Given the description of an element on the screen output the (x, y) to click on. 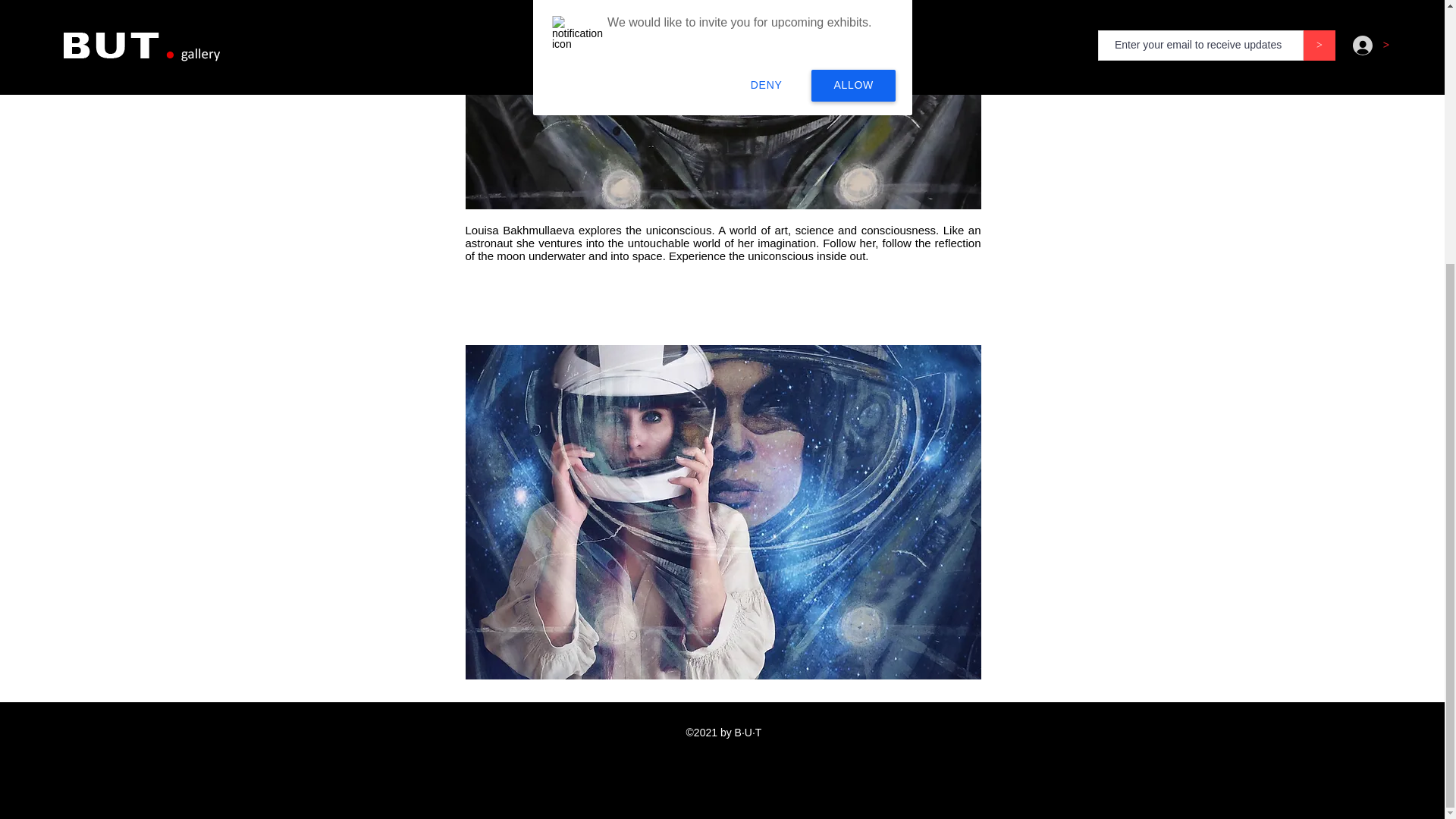
183A9425.JPG (723, 104)
